Given the description of an element on the screen output the (x, y) to click on. 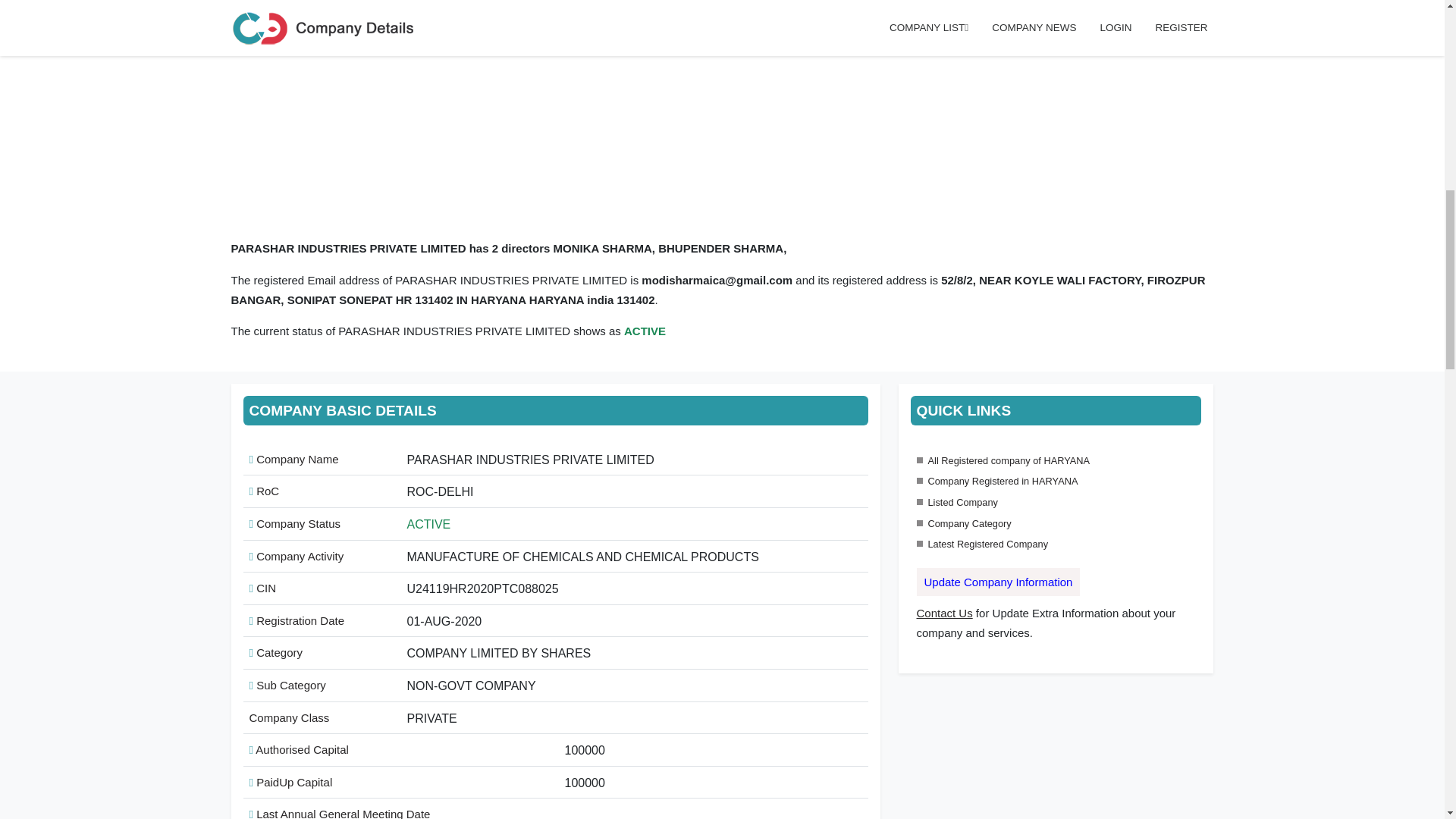
Category (275, 652)
Sub Category (286, 684)
RoC (263, 490)
Last Annual General Meeting Date (338, 813)
Company Name (292, 459)
CIN (261, 587)
Authorised Capital (297, 748)
Company Status (294, 522)
Company Class (288, 717)
Registration Date (295, 620)
PaidUp Capital (289, 781)
Company Activity (295, 555)
